Given the description of an element on the screen output the (x, y) to click on. 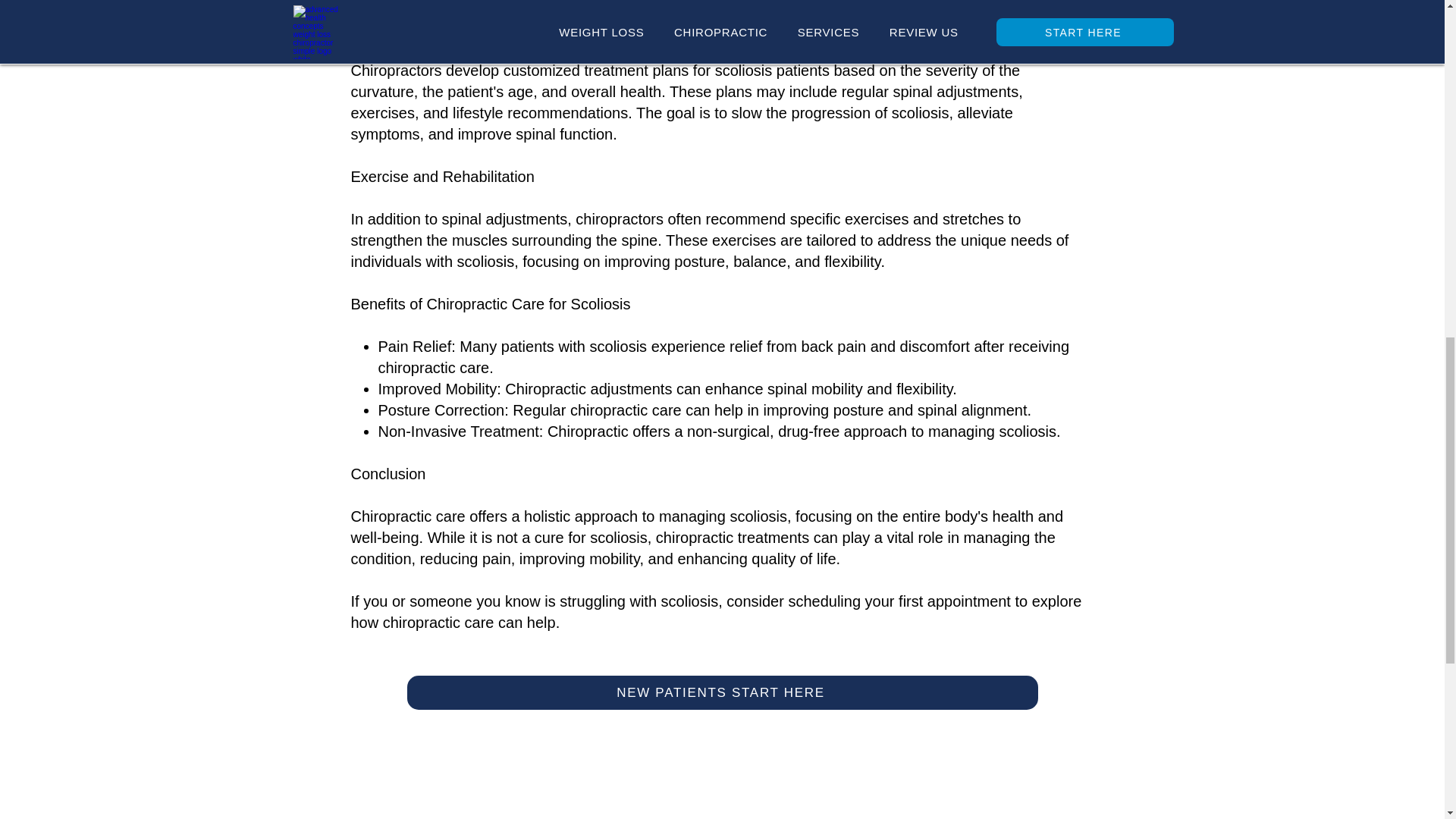
NEW PATIENTS START HERE (721, 692)
